Given the description of an element on the screen output the (x, y) to click on. 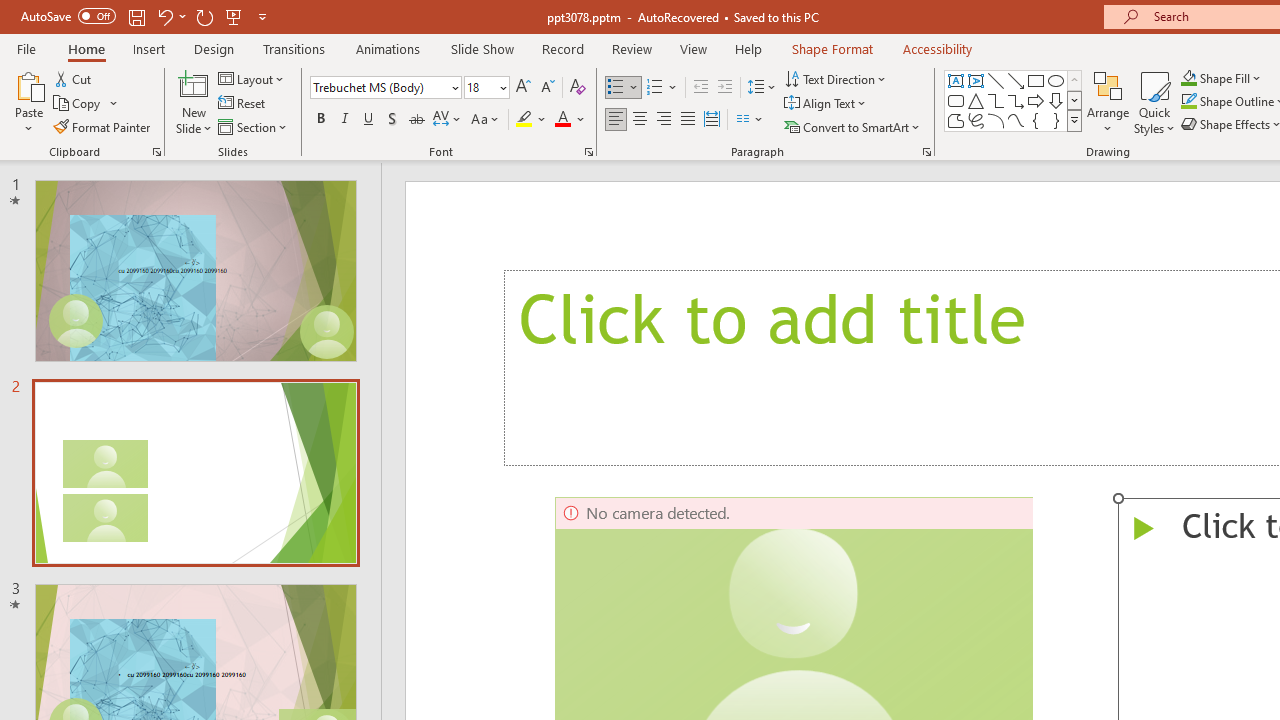
Shape Fill Dark Green, Accent 2 (1188, 78)
Shape Format (832, 48)
